Given the description of an element on the screen output the (x, y) to click on. 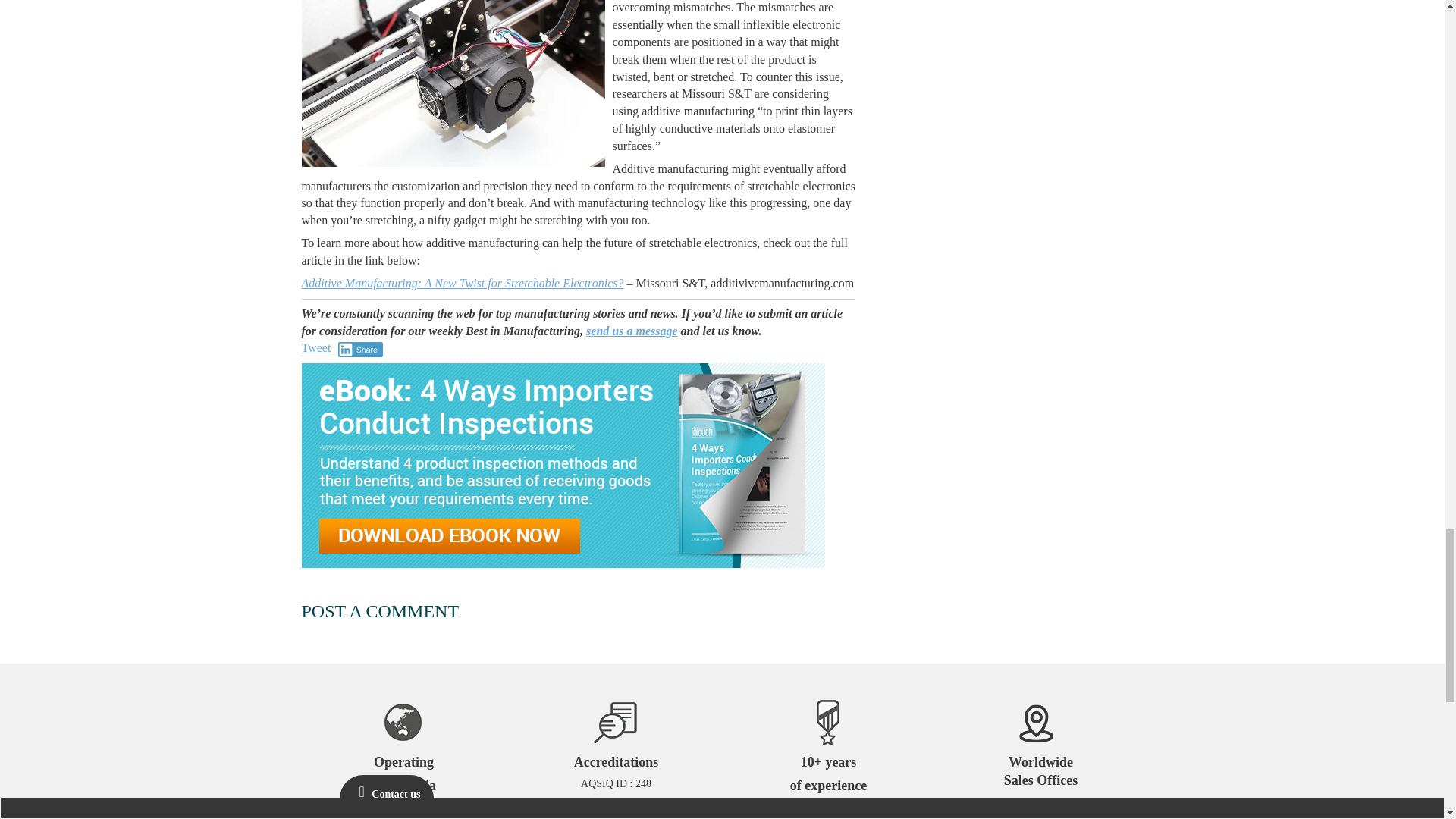
silk road (453, 83)
